Given the description of an element on the screen output the (x, y) to click on. 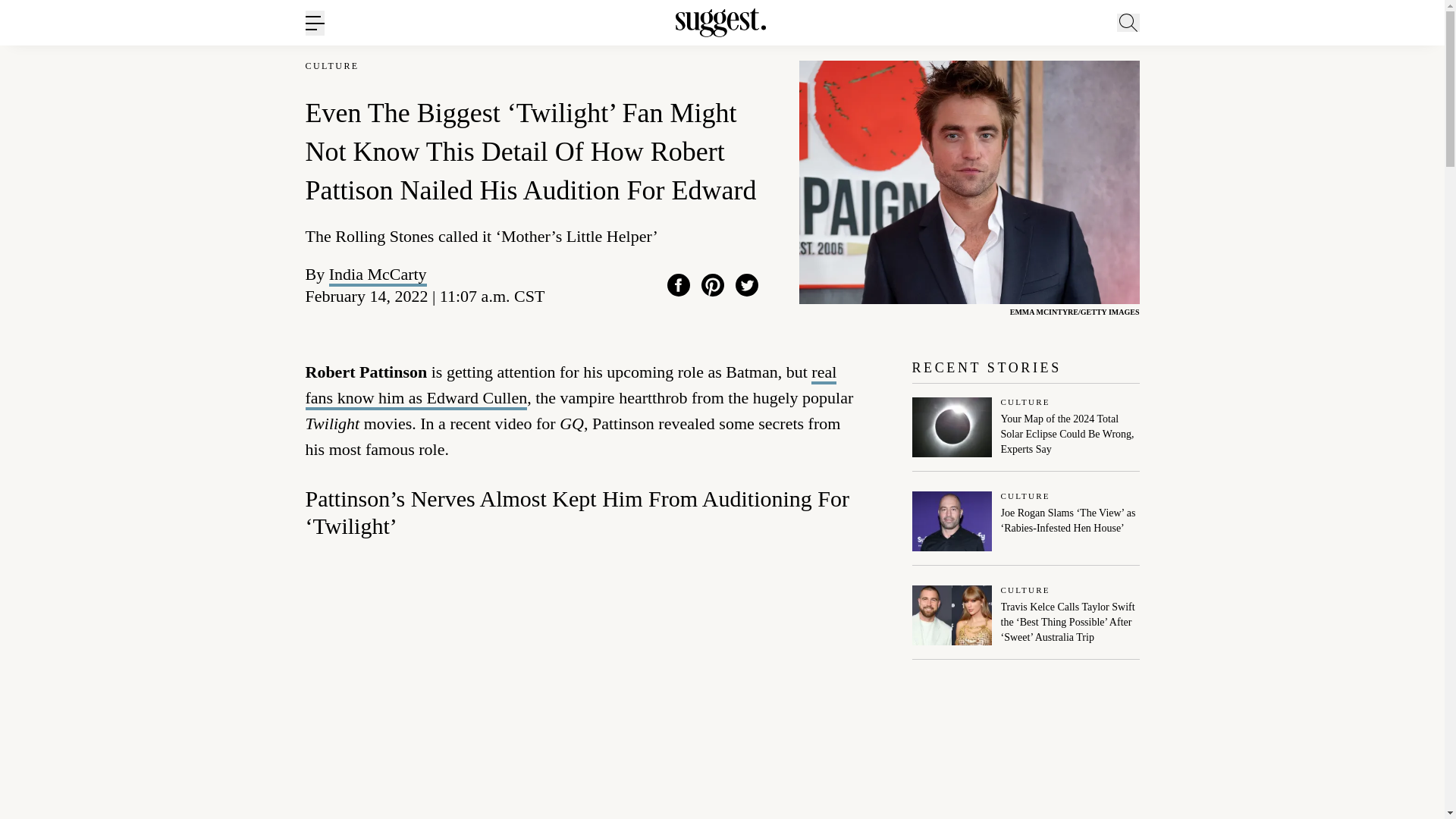
Culture (1070, 591)
Culture (1070, 496)
Search (1170, 95)
Facebook (678, 284)
TOGGLE MENU (313, 23)
Suggest (720, 22)
real fans know him as Edward Cullen (569, 386)
Twitter (746, 284)
Culture (1070, 402)
India McCarty (377, 273)
CULTURE (331, 66)
Pinterest (712, 284)
